Given the description of an element on the screen output the (x, y) to click on. 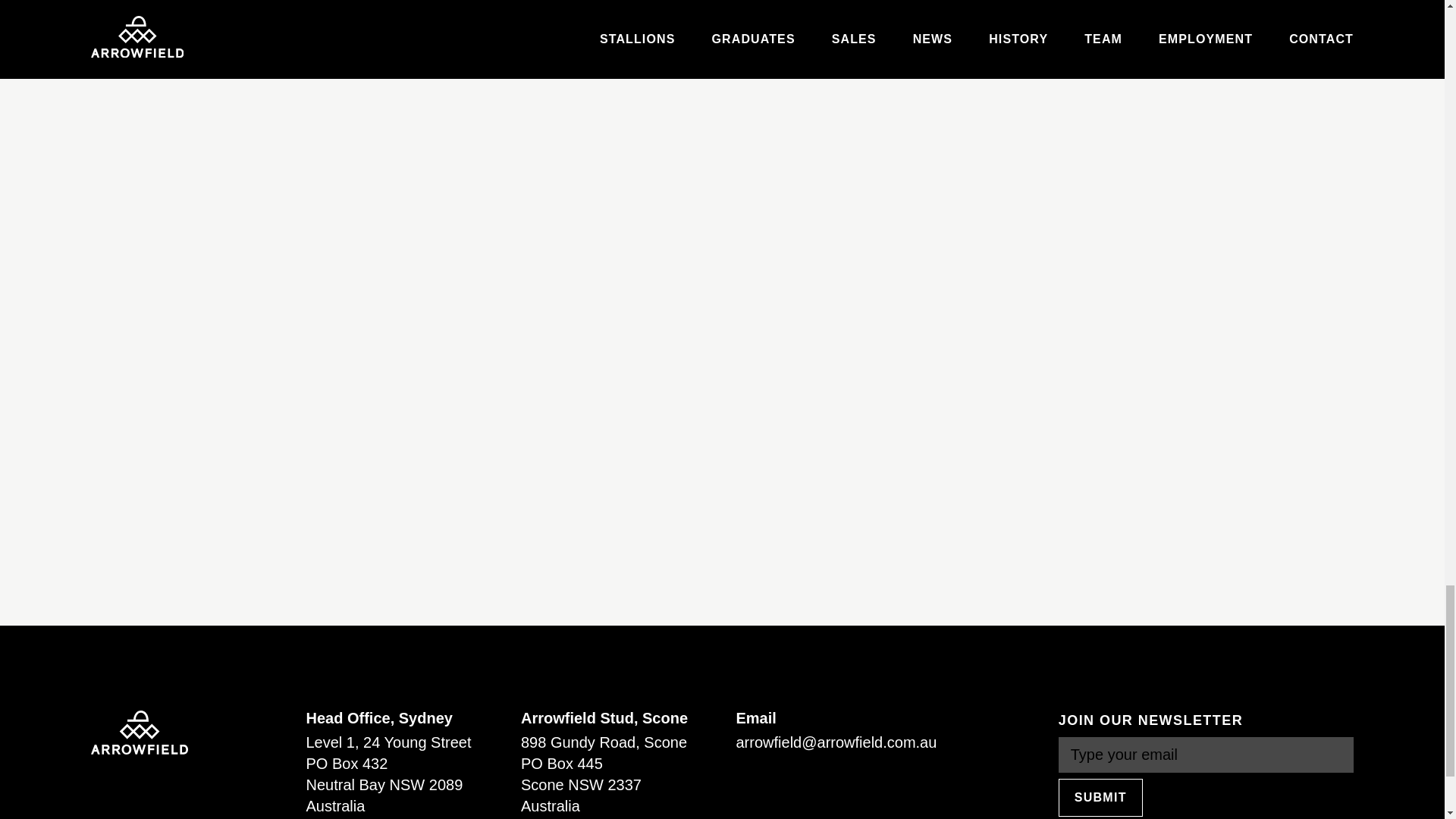
Arrowfield (138, 731)
Return to the homepage (138, 731)
SUBMIT (1100, 797)
Arrowfield (138, 732)
